Given the description of an element on the screen output the (x, y) to click on. 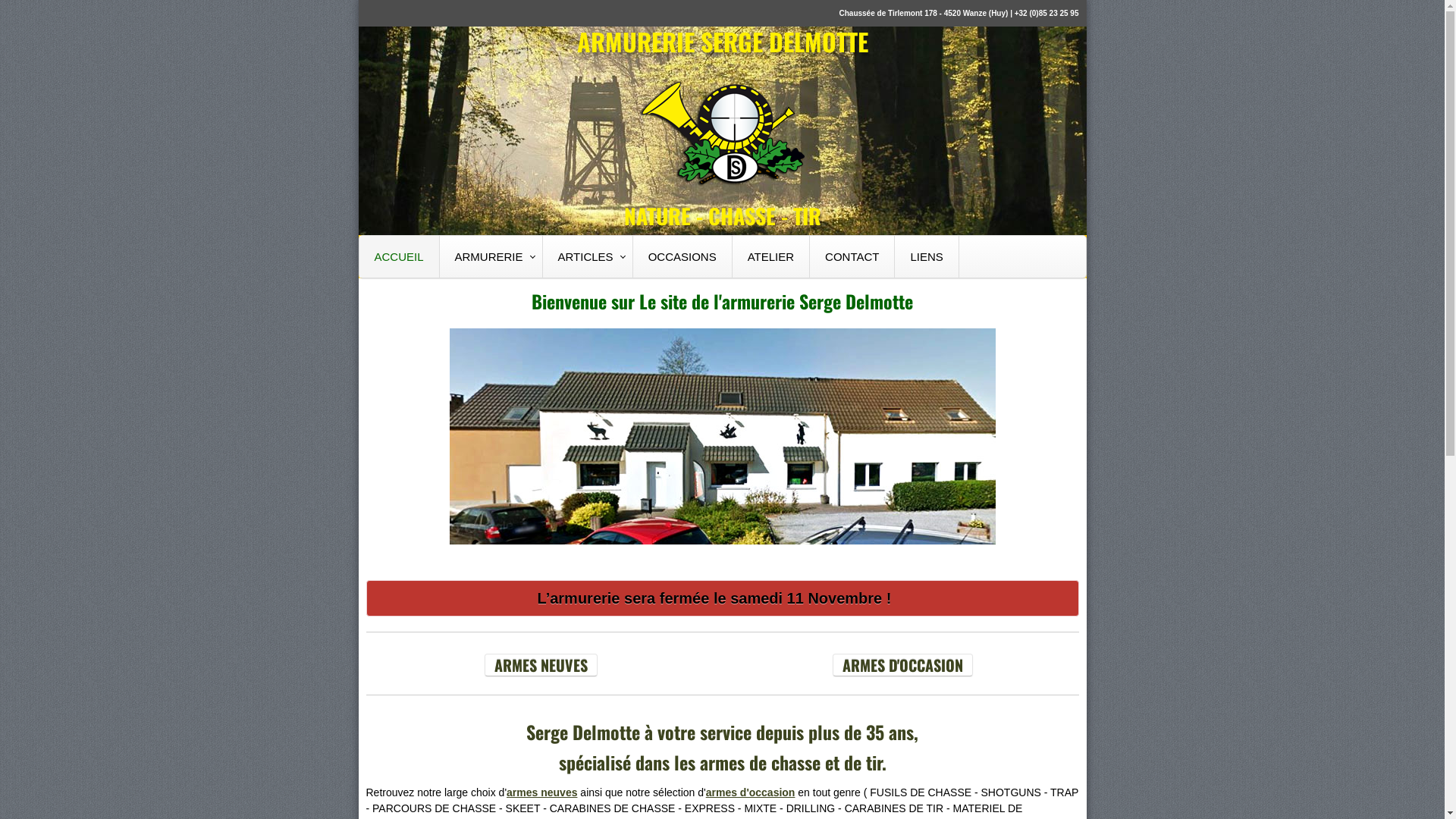
LIENS Element type: text (926, 256)
ACCUEIL Element type: text (399, 256)
ARMES NEUVES Element type: text (540, 664)
ARMES D'OCCASION Element type: text (902, 664)
armes neuves Element type: text (541, 792)
OCCASIONS Element type: text (682, 256)
armes d'occasion Element type: text (750, 792)
ARMURERIE Element type: text (490, 256)
ATELIER Element type: text (770, 256)
ARTICLES Element type: text (587, 256)
CONTACT Element type: text (851, 256)
